Given the description of an element on the screen output the (x, y) to click on. 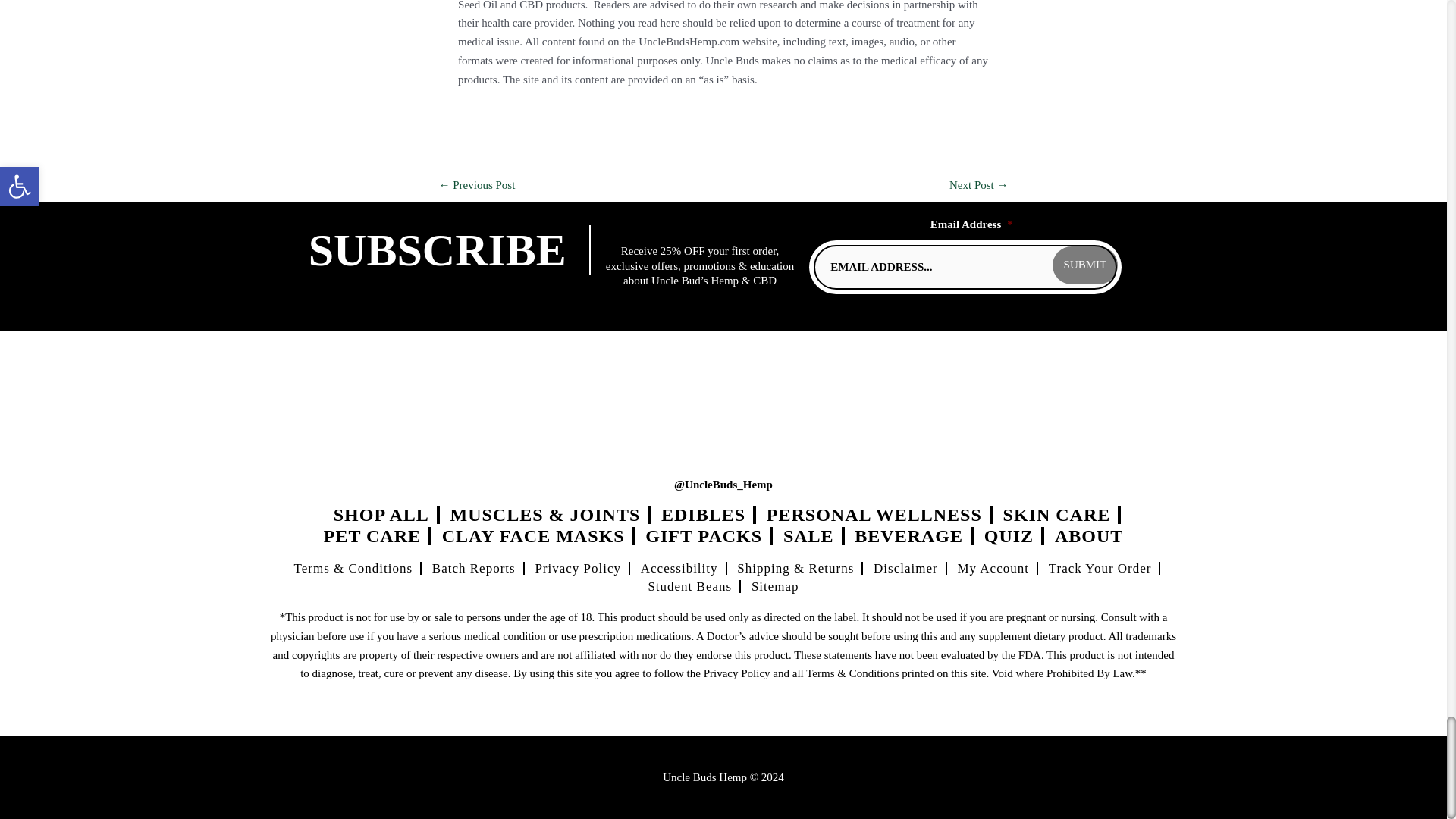
SUBMIT (1085, 265)
